Given the description of an element on the screen output the (x, y) to click on. 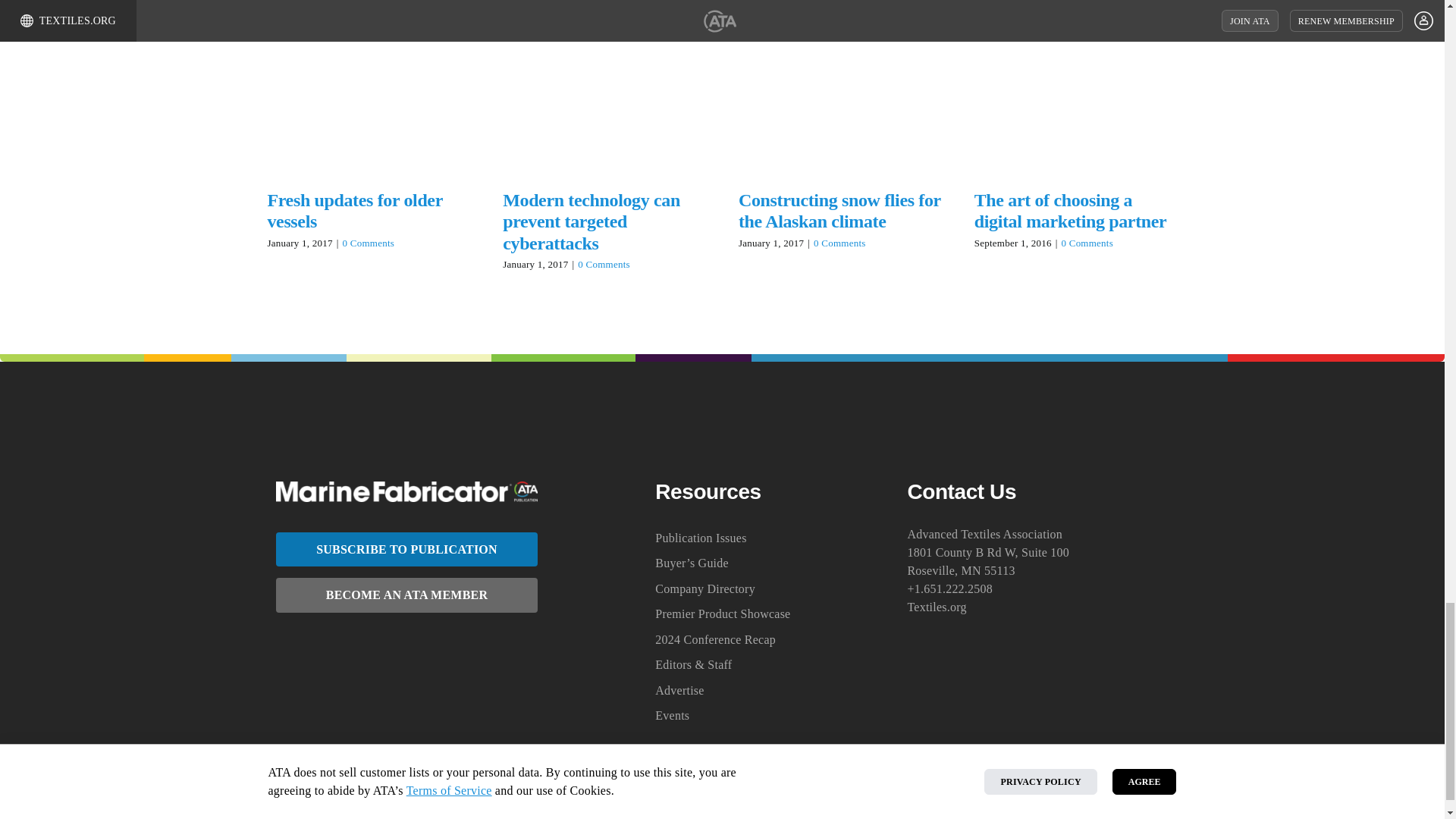
0 Comments (368, 242)
Constructing snow flies for the Alaskan climate (839, 210)
Fresh updates for older vessels (354, 210)
Modern technology can prevent targeted cyberattacks (590, 221)
Fresh updates for older vessels (354, 210)
The art of choosing a digital marketing partner (1070, 210)
